Given the description of an element on the screen output the (x, y) to click on. 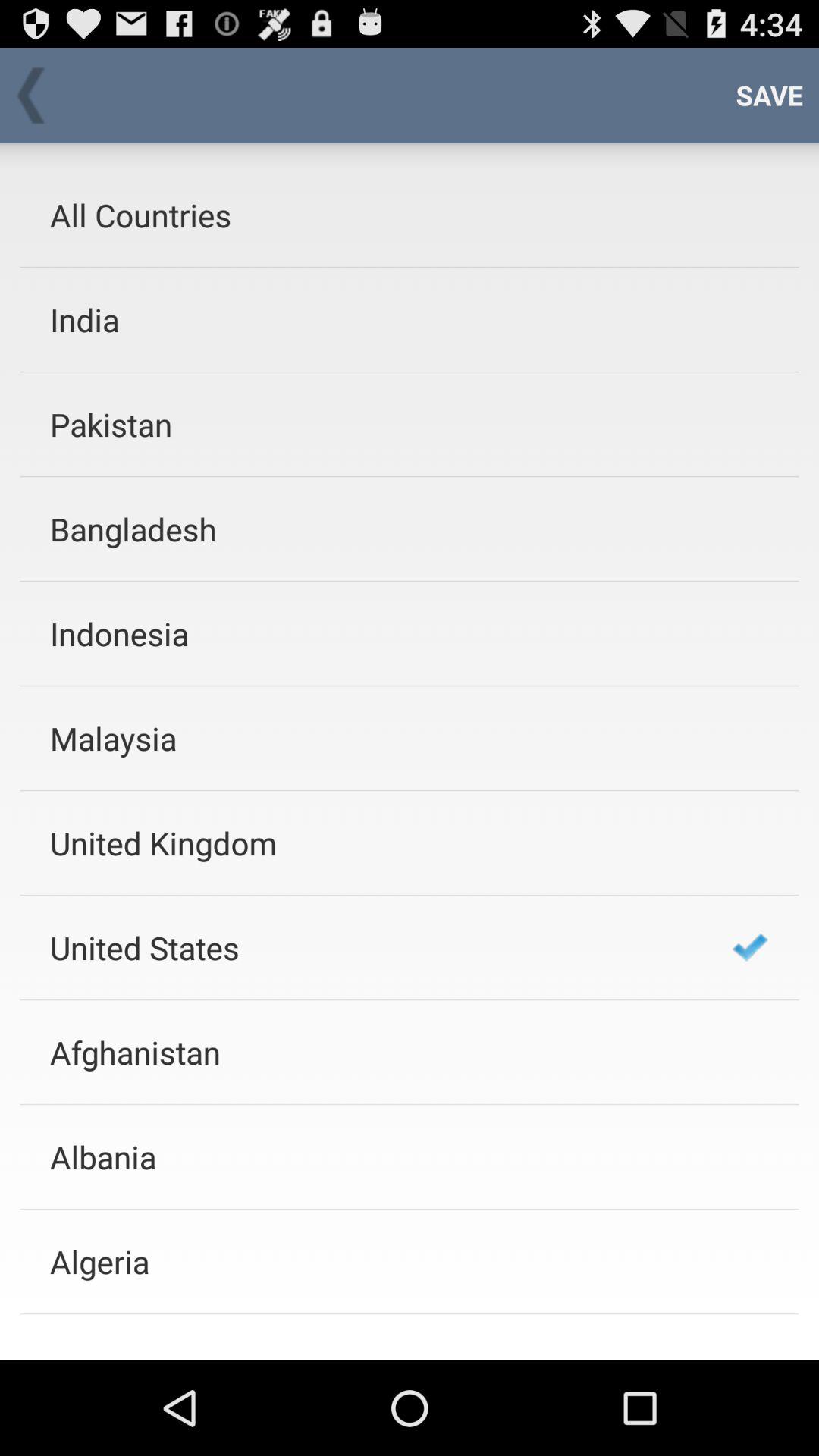
turn off united kingdom icon (371, 842)
